Given the description of an element on the screen output the (x, y) to click on. 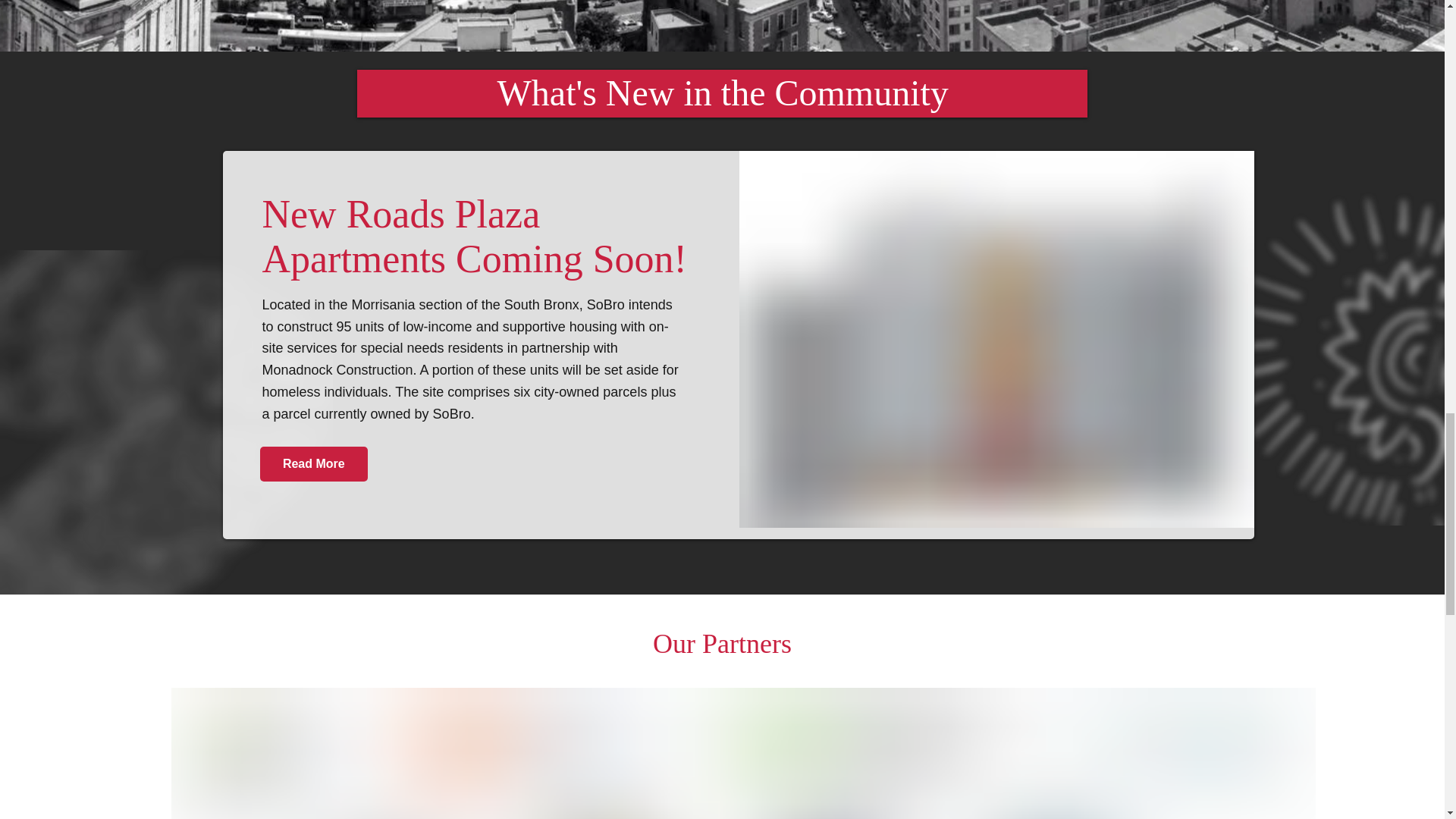
Read More (314, 463)
